Given the description of an element on the screen output the (x, y) to click on. 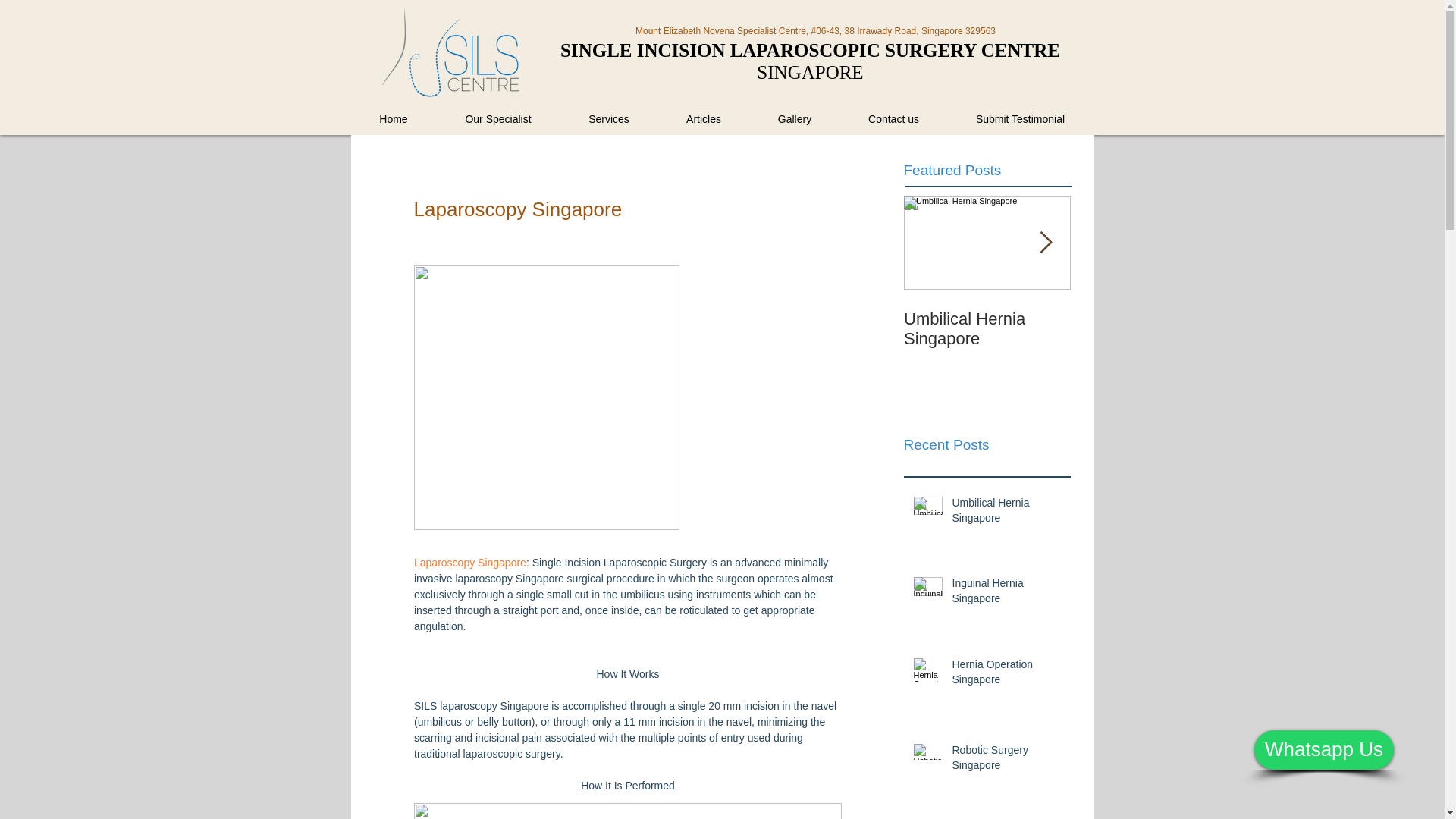
Submit Testimonial (1020, 119)
Gallery (794, 119)
Home (392, 119)
Laparoscopy Singapore (469, 562)
Services (608, 119)
Inguinal Hernia Singapore (1153, 328)
Umbilical Hernia Singapore (987, 328)
Contact us (893, 119)
Umbilical Hernia Singapore (1006, 513)
Articles (703, 119)
